Given the description of an element on the screen output the (x, y) to click on. 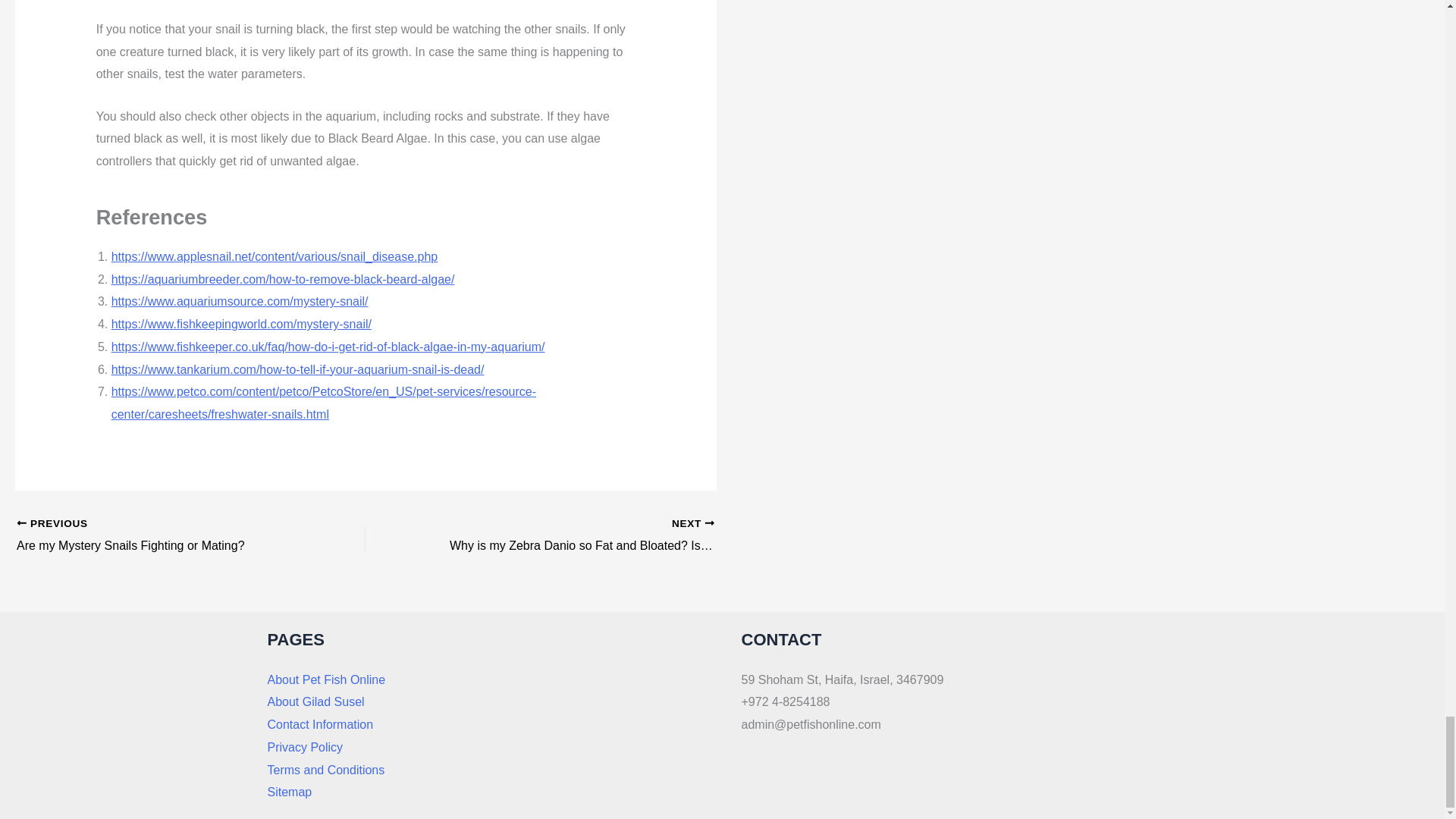
Why is my Zebra Danio so Fat and Bloated? Is it Pregnant? (573, 536)
Are my Mystery Snails Fighting or Mating? (156, 536)
